Given the description of an element on the screen output the (x, y) to click on. 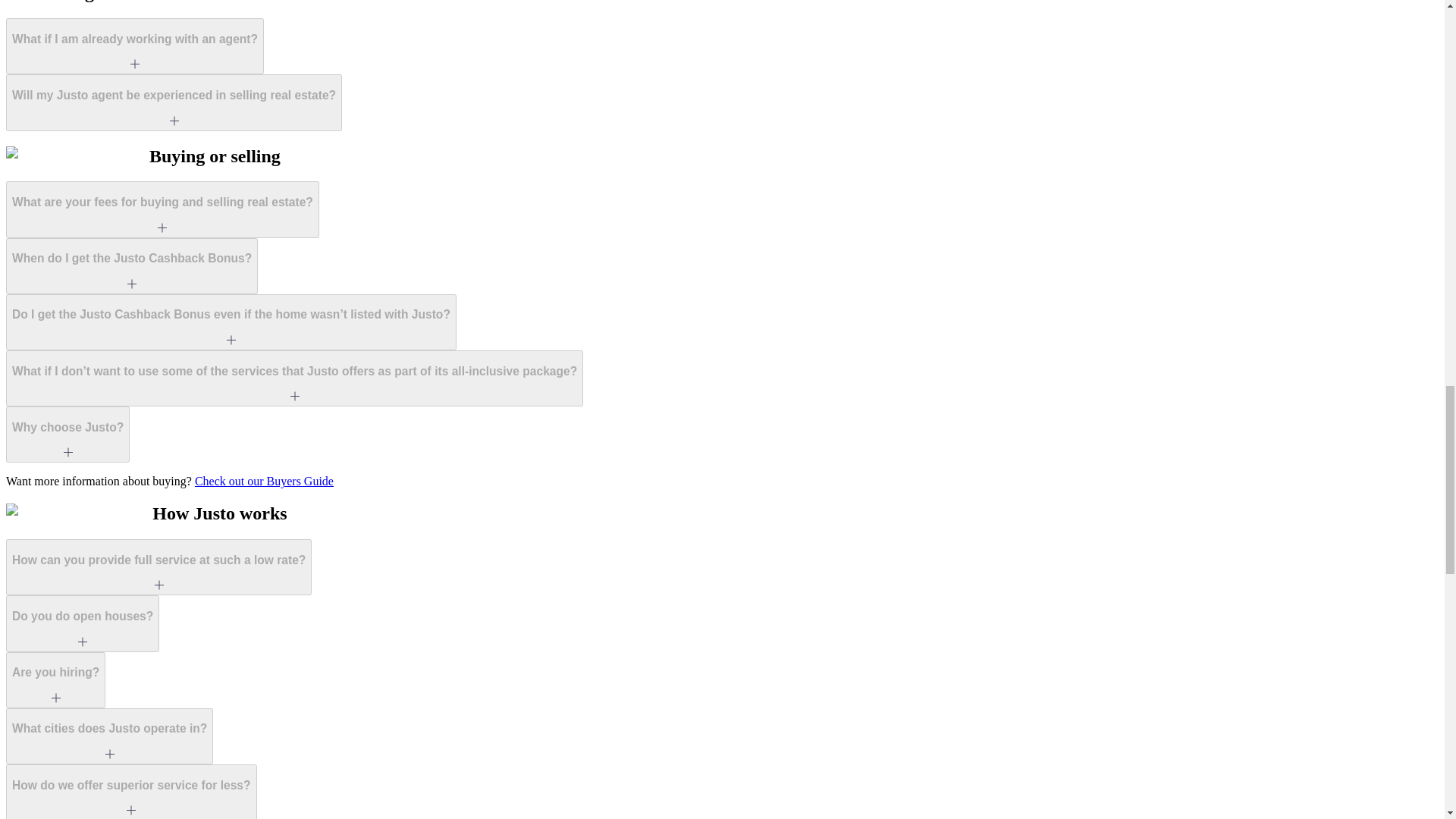
Why choose Justo? (67, 434)
Do you do open houses? (81, 623)
How can you provide full service at such a low rate? (158, 566)
Check out our Buyers Guide (264, 481)
Will my Justo agent be experienced in selling real estate? (173, 102)
Are you hiring? (54, 679)
What are your fees for buying and selling real estate? (161, 208)
What if I am already working with an agent? (134, 46)
When do I get the Justo Cashback Bonus? (131, 266)
